Given the description of an element on the screen output the (x, y) to click on. 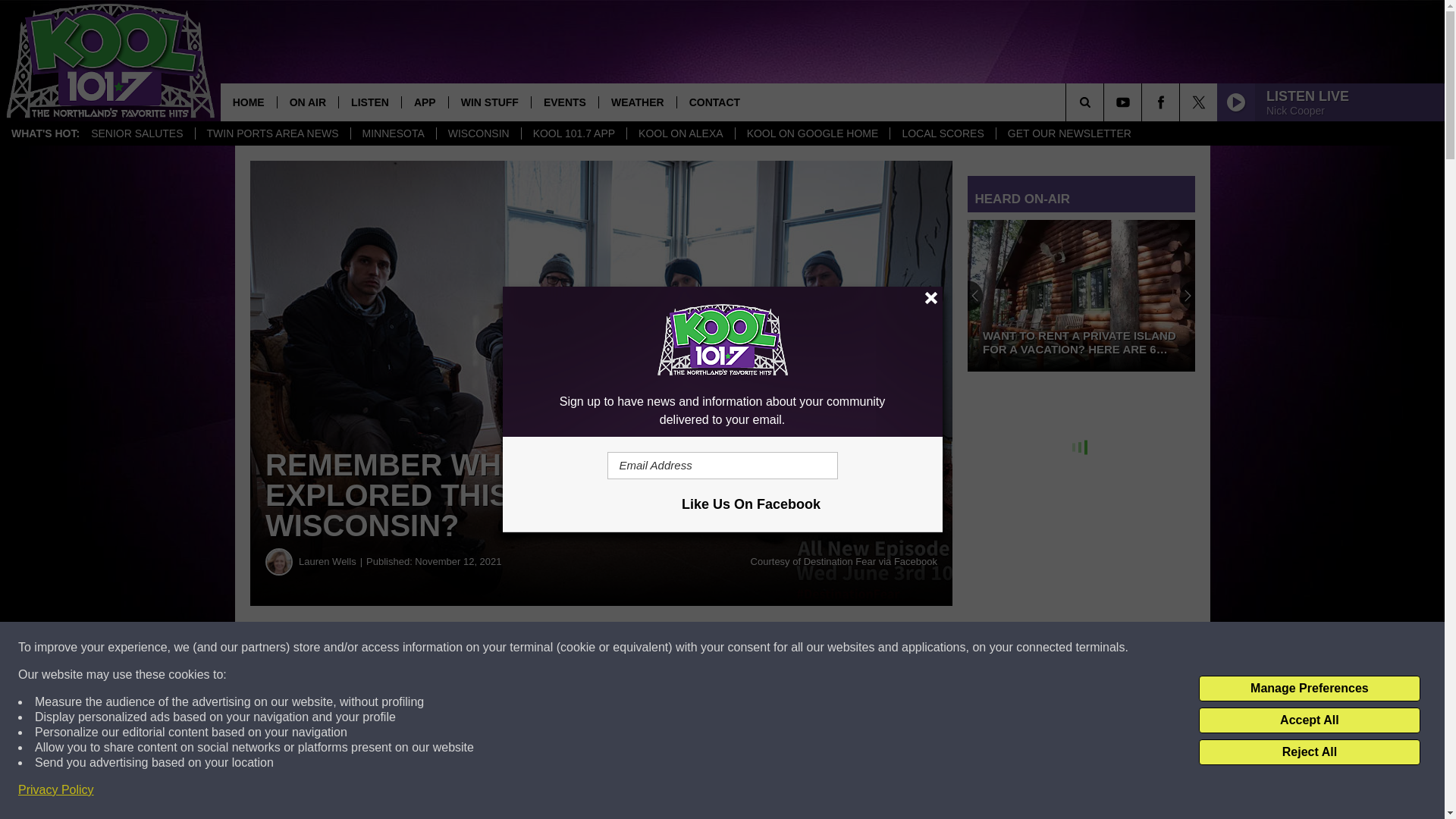
SEARCH (1106, 102)
Privacy Policy (55, 789)
KOOL 101.7 APP (573, 133)
APP (424, 102)
LOCAL SCORES (941, 133)
SEARCH (1106, 102)
TWIN PORTS AREA NEWS (272, 133)
Email Address (722, 465)
Accept All (1309, 720)
KOOL ON GOOGLE HOME (812, 133)
Share on Facebook (460, 647)
LISTEN (369, 102)
Share on Twitter (741, 647)
Manage Preferences (1309, 688)
WIN STUFF (489, 102)
